Given the description of an element on the screen output the (x, y) to click on. 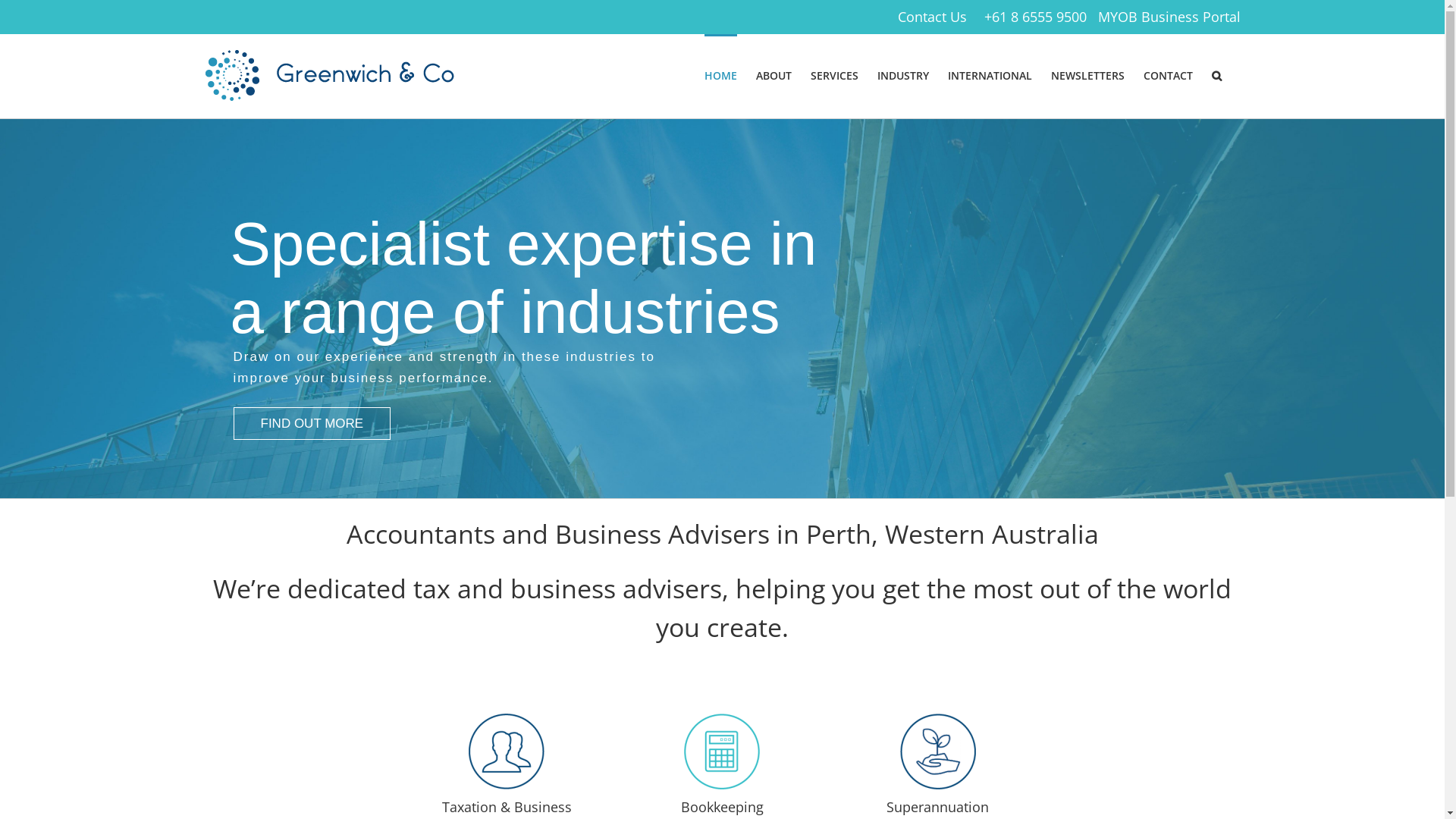
INDUSTRY Element type: text (902, 74)
CONTACT Element type: text (1167, 74)
SERVICES Element type: text (833, 74)
MYOB Business Portal Element type: text (1169, 16)
Contact Us Element type: text (931, 16)
+61 8 6555 9500 Element type: text (1035, 16)
INTERNATIONAL Element type: text (989, 74)
HOME Element type: text (719, 74)
Search Element type: hover (1216, 74)
NEWSLETTERS Element type: text (1087, 74)
Icon6-e1495593719292 Element type: hover (937, 751)
Icon2-e1495593615116 Element type: hover (506, 751)
Icon5-e1495593668361 Element type: hover (721, 751)
ABOUT Element type: text (772, 74)
